Given the description of an element on the screen output the (x, y) to click on. 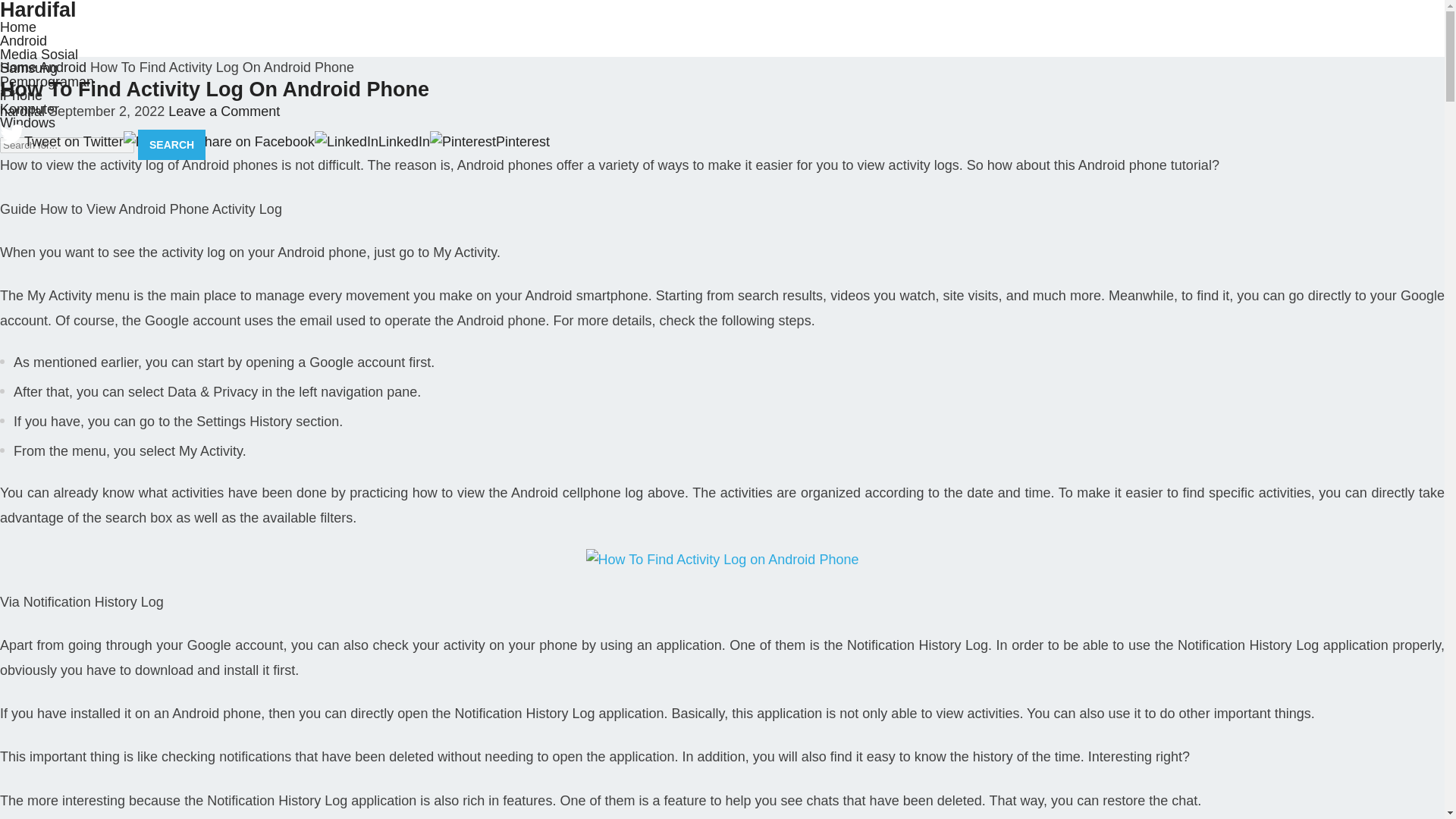
LinkedIn (371, 141)
Posts by hardifal (22, 111)
iPhone (21, 95)
Samsung (29, 68)
Pemprograman (47, 81)
Android (62, 67)
Pinterest (489, 141)
SEARCH (171, 144)
hardifal (22, 111)
Windows (27, 122)
